Given the description of an element on the screen output the (x, y) to click on. 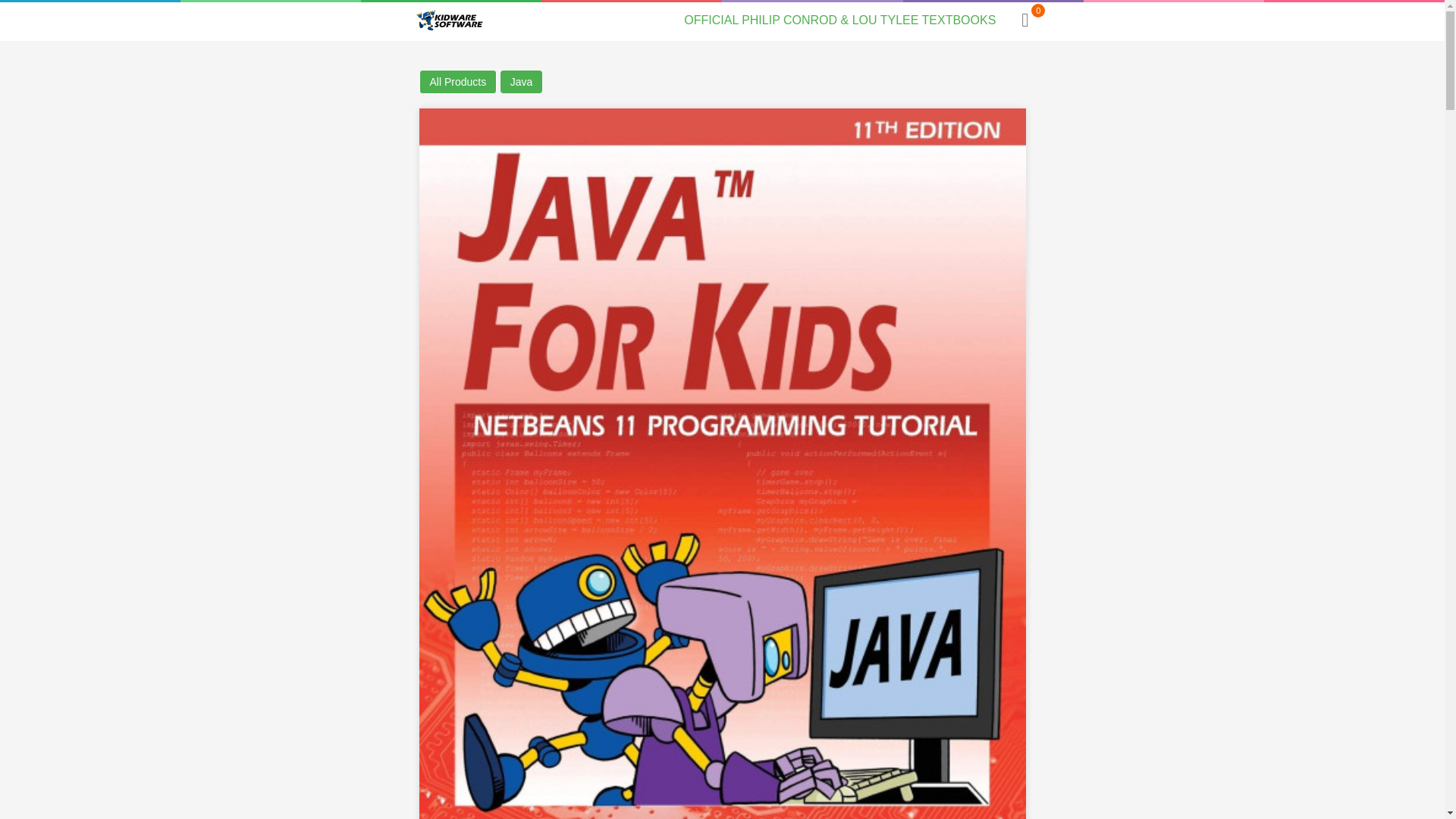
All Products (457, 81)
Java (521, 81)
